Given the description of an element on the screen output the (x, y) to click on. 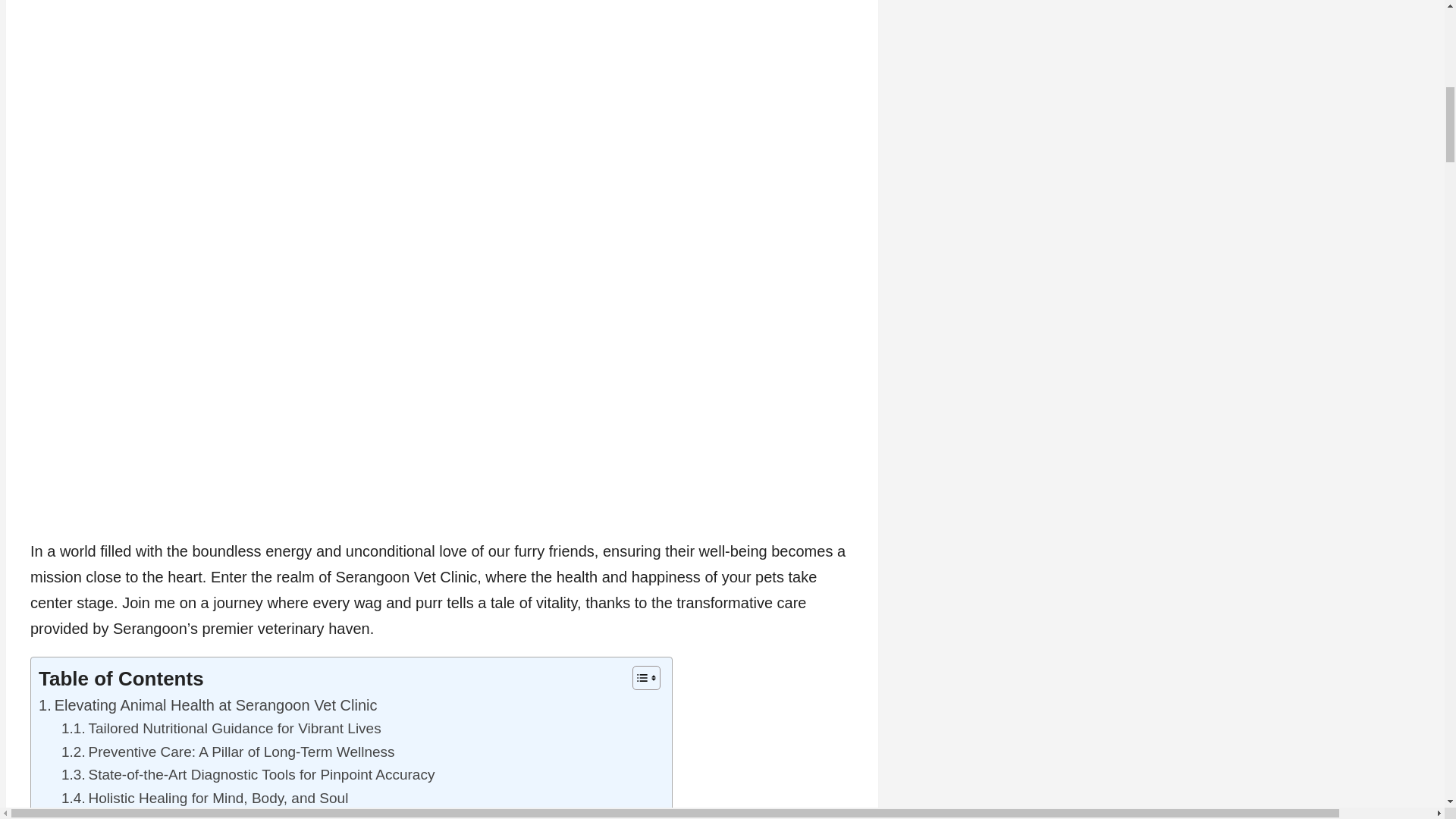
Elevating Animal Health at Serangoon Vet Clinic (208, 704)
Tailored Nutritional Guidance for Vibrant Lives (221, 728)
Closing Paragraph: (111, 814)
Preventive Care: A Pillar of Long-Term Wellness (227, 752)
Holistic Healing for Mind, Body, and Soul (204, 798)
State-of-the-Art Diagnostic Tools for Pinpoint Accuracy (247, 774)
